Given the description of an element on the screen output the (x, y) to click on. 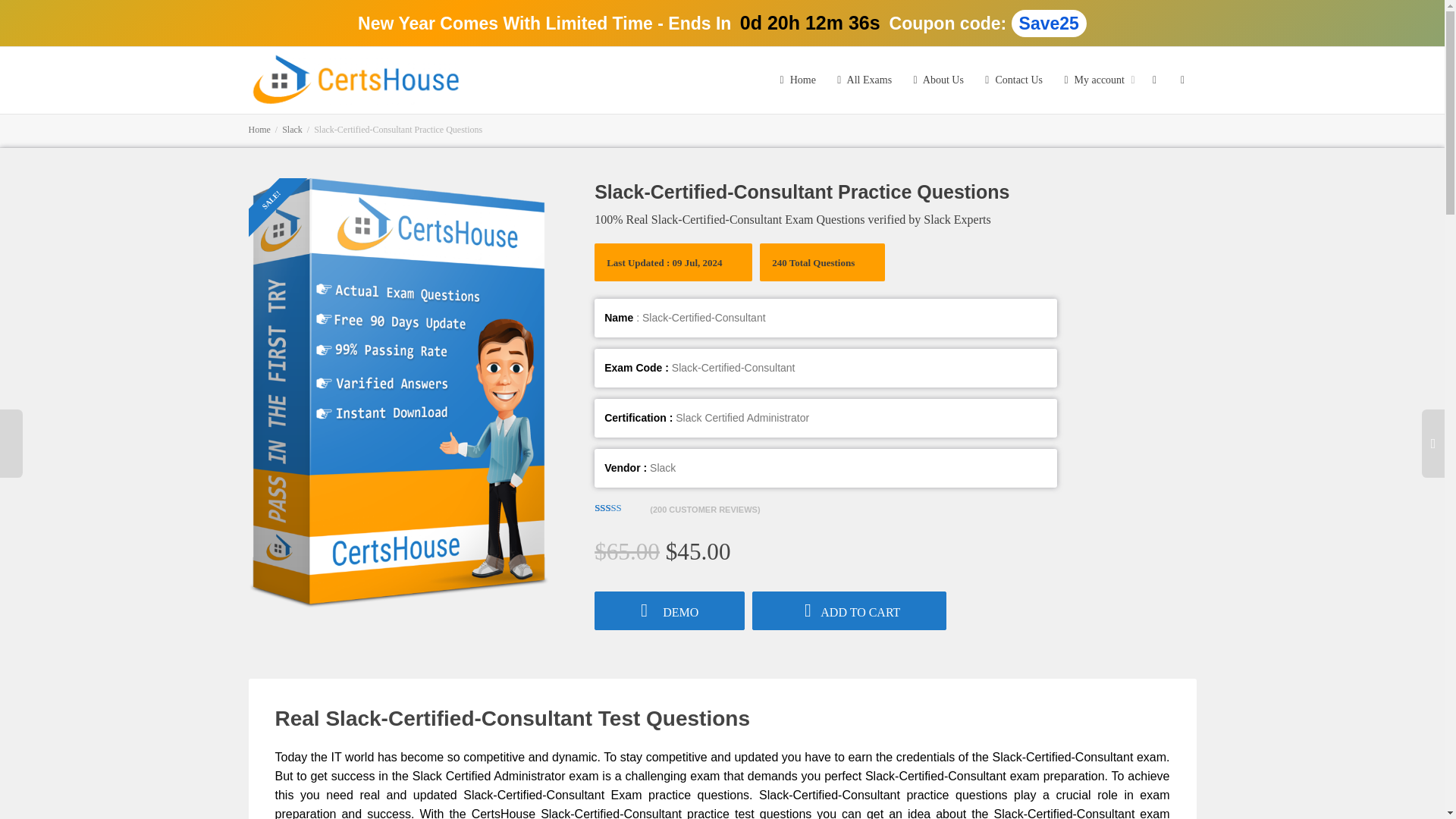
My account (1096, 79)
My account (1096, 79)
Certs House (356, 79)
Contact Us (1011, 79)
Home (259, 129)
ADD TO CART (849, 610)
Contact Us (1011, 79)
DEMO (669, 610)
Slack (292, 129)
